Given the description of an element on the screen output the (x, y) to click on. 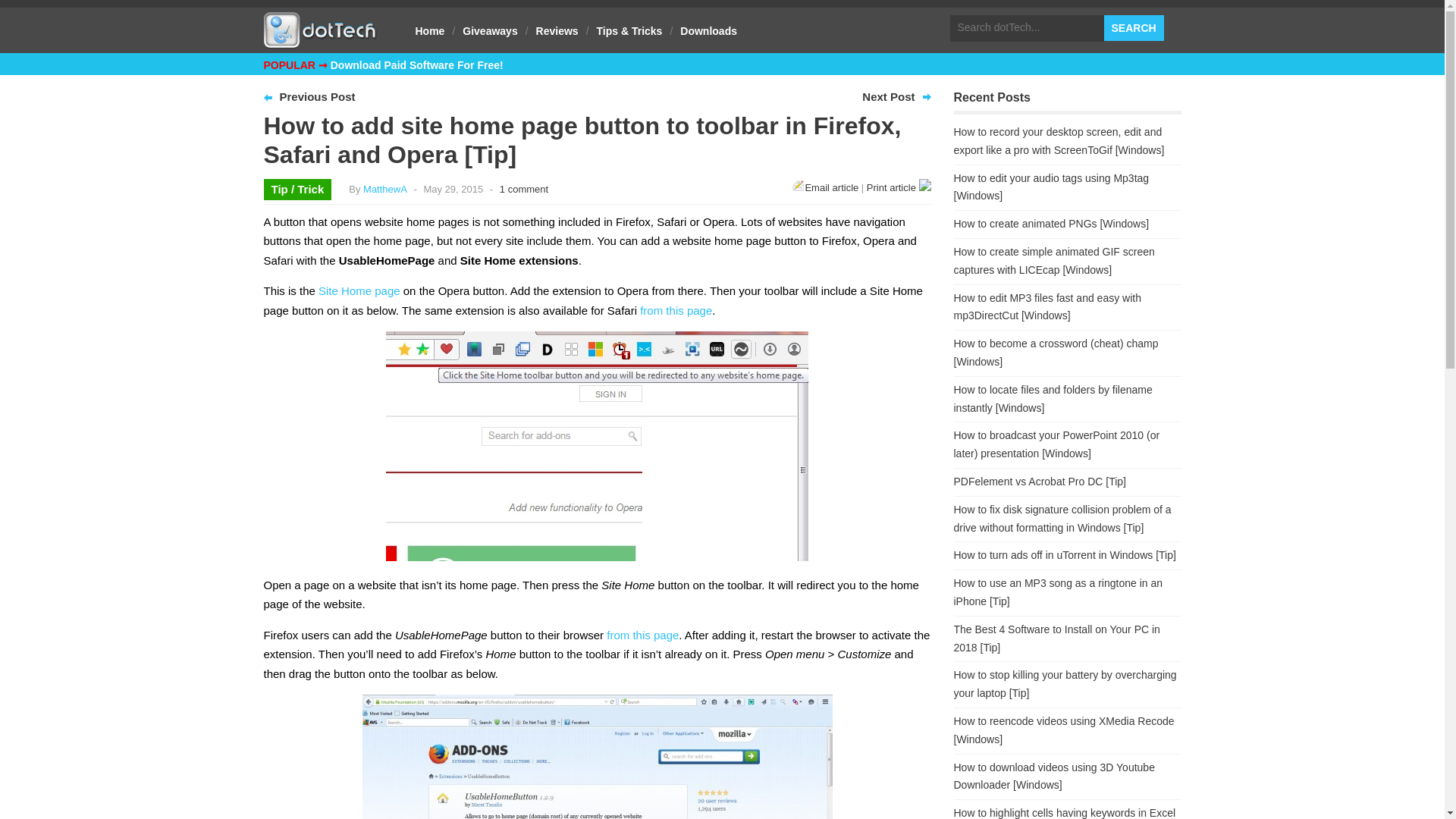
Download Paid Software For Free! (416, 64)
dotTech (320, 40)
from this page (675, 309)
from this page (642, 634)
Site Home page (359, 290)
Search (1133, 27)
Search (1133, 27)
1 comment (523, 188)
Posts by MatthewA (384, 188)
MatthewA (384, 188)
Print article (898, 187)
Home (429, 30)
Downloads (708, 30)
Next Post (887, 96)
Previous Post (317, 96)
